Given the description of an element on the screen output the (x, y) to click on. 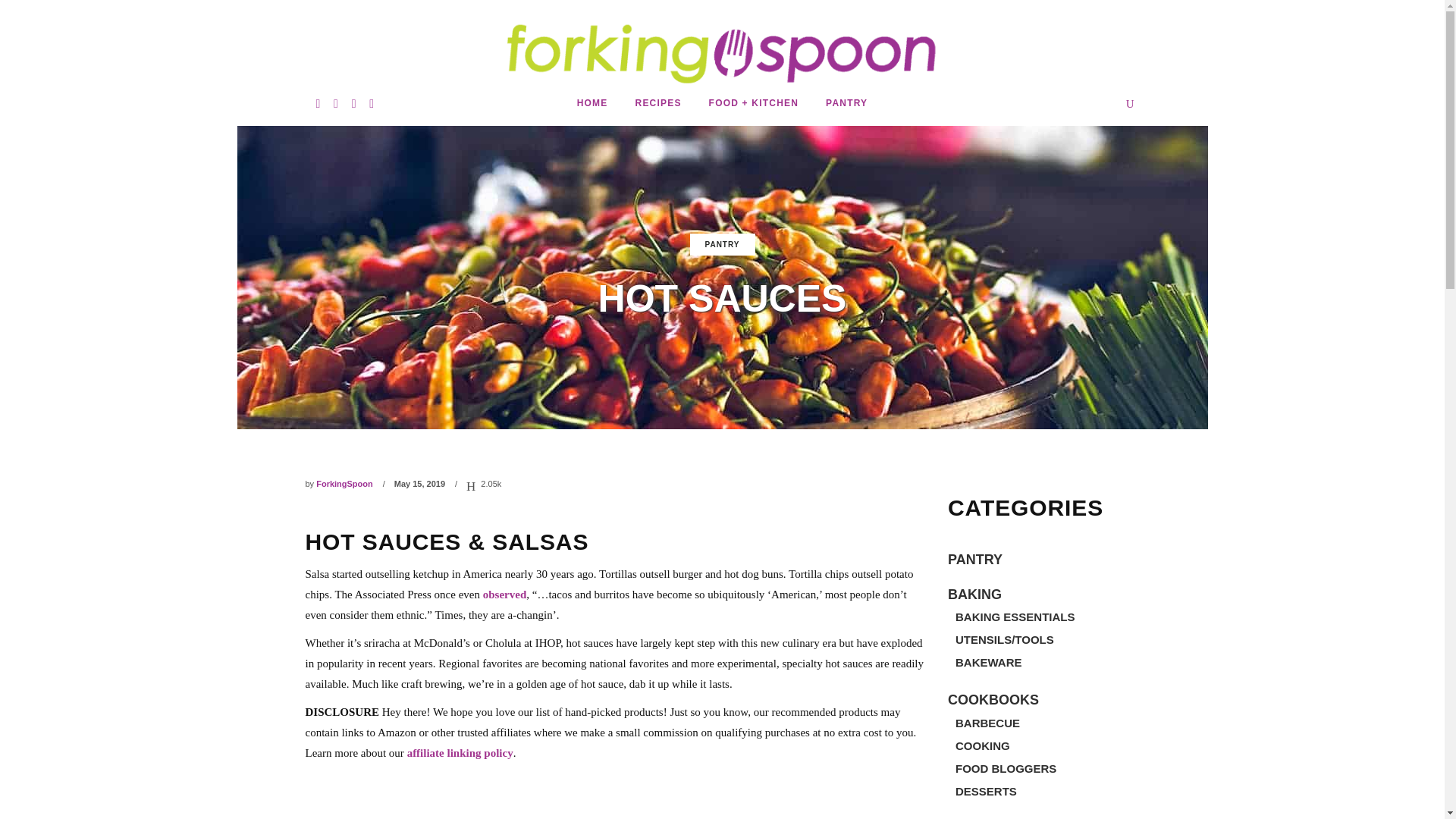
RECIPES (658, 103)
affiliate linking policy (460, 752)
May 15, 2019 (419, 483)
PANTRY (721, 244)
HOME (592, 103)
PANTRY (846, 103)
observed (505, 594)
ForkingSpoon (343, 483)
